Given the description of an element on the screen output the (x, y) to click on. 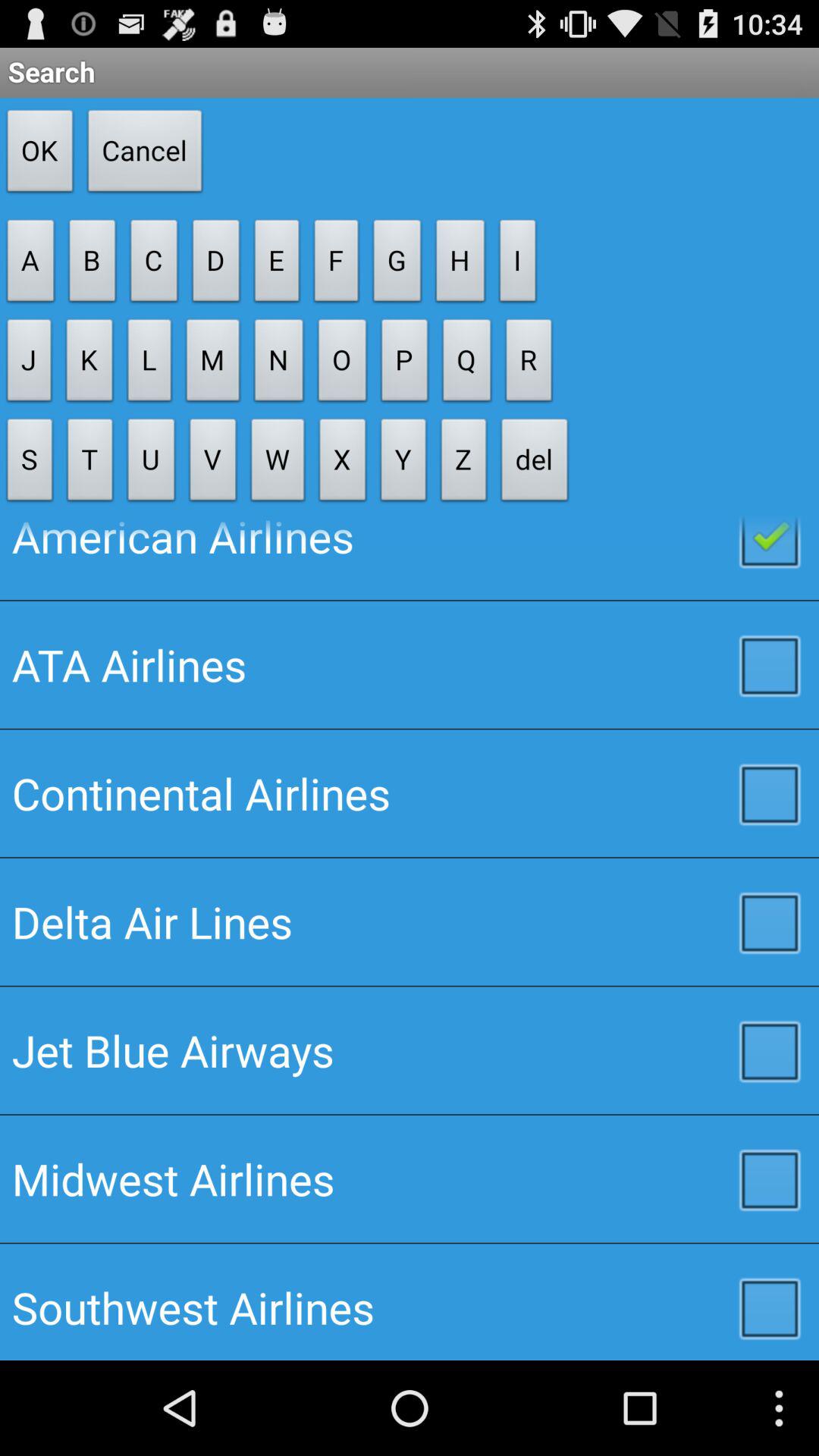
press the item above the jet blue airways checkbox (409, 921)
